Given the description of an element on the screen output the (x, y) to click on. 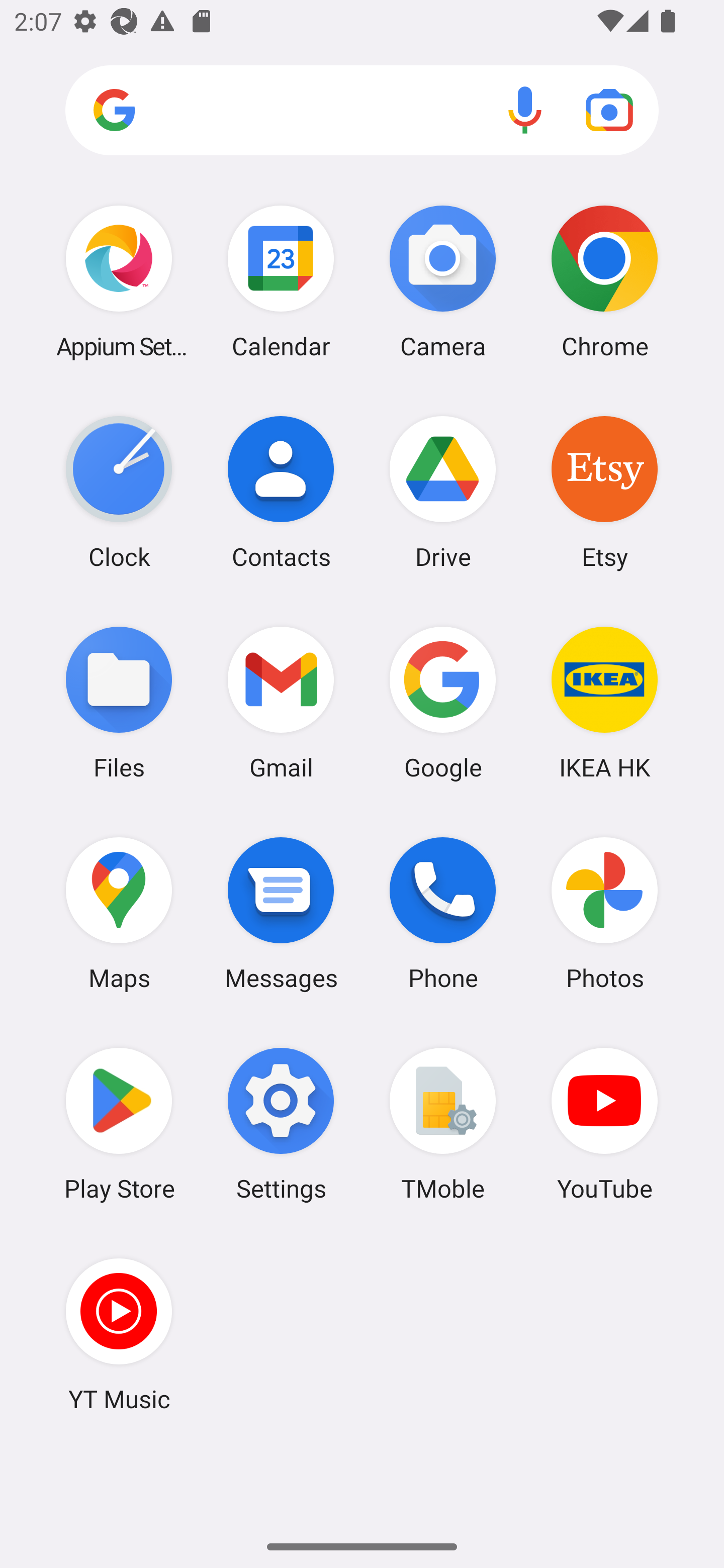
Search apps, web and more (361, 110)
Voice search (524, 109)
Google Lens (608, 109)
Appium Settings (118, 281)
Calendar (280, 281)
Camera (443, 281)
Chrome (604, 281)
Clock (118, 492)
Contacts (280, 492)
Drive (443, 492)
Etsy (604, 492)
Files (118, 702)
Gmail (280, 702)
Google (443, 702)
IKEA HK (604, 702)
Maps (118, 913)
Messages (280, 913)
Phone (443, 913)
Photos (604, 913)
Play Store (118, 1124)
Settings (280, 1124)
TMoble (443, 1124)
YouTube (604, 1124)
YT Music (118, 1334)
